Given the description of an element on the screen output the (x, y) to click on. 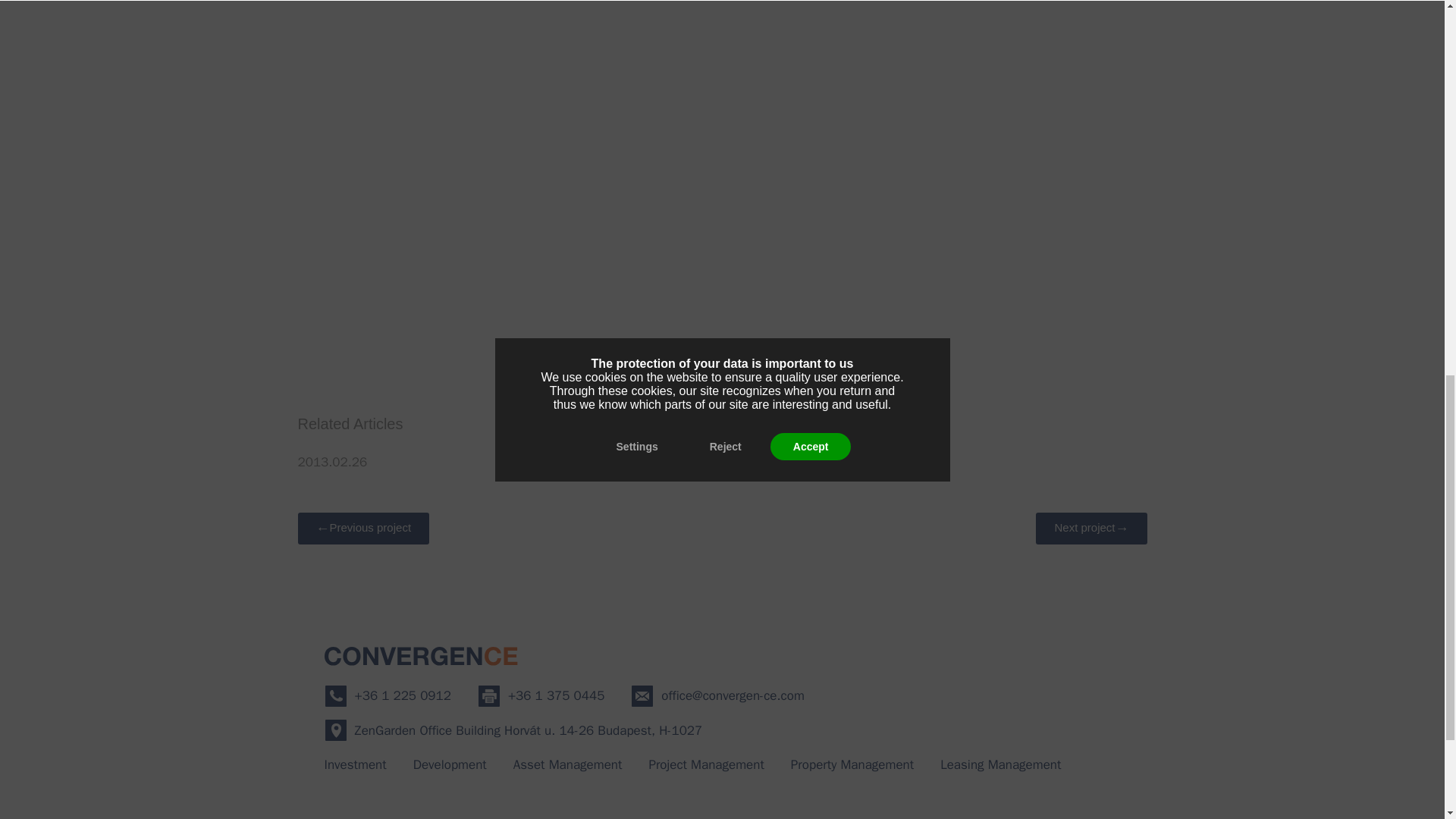
Property Management (852, 764)
Asset Management (568, 764)
Development (449, 764)
Terrapark Next Reloaded! (653, 461)
Project Management (704, 764)
Previous project (363, 528)
Leasing Management (1000, 764)
Next project (1091, 528)
Investment (355, 764)
